Given the description of an element on the screen output the (x, y) to click on. 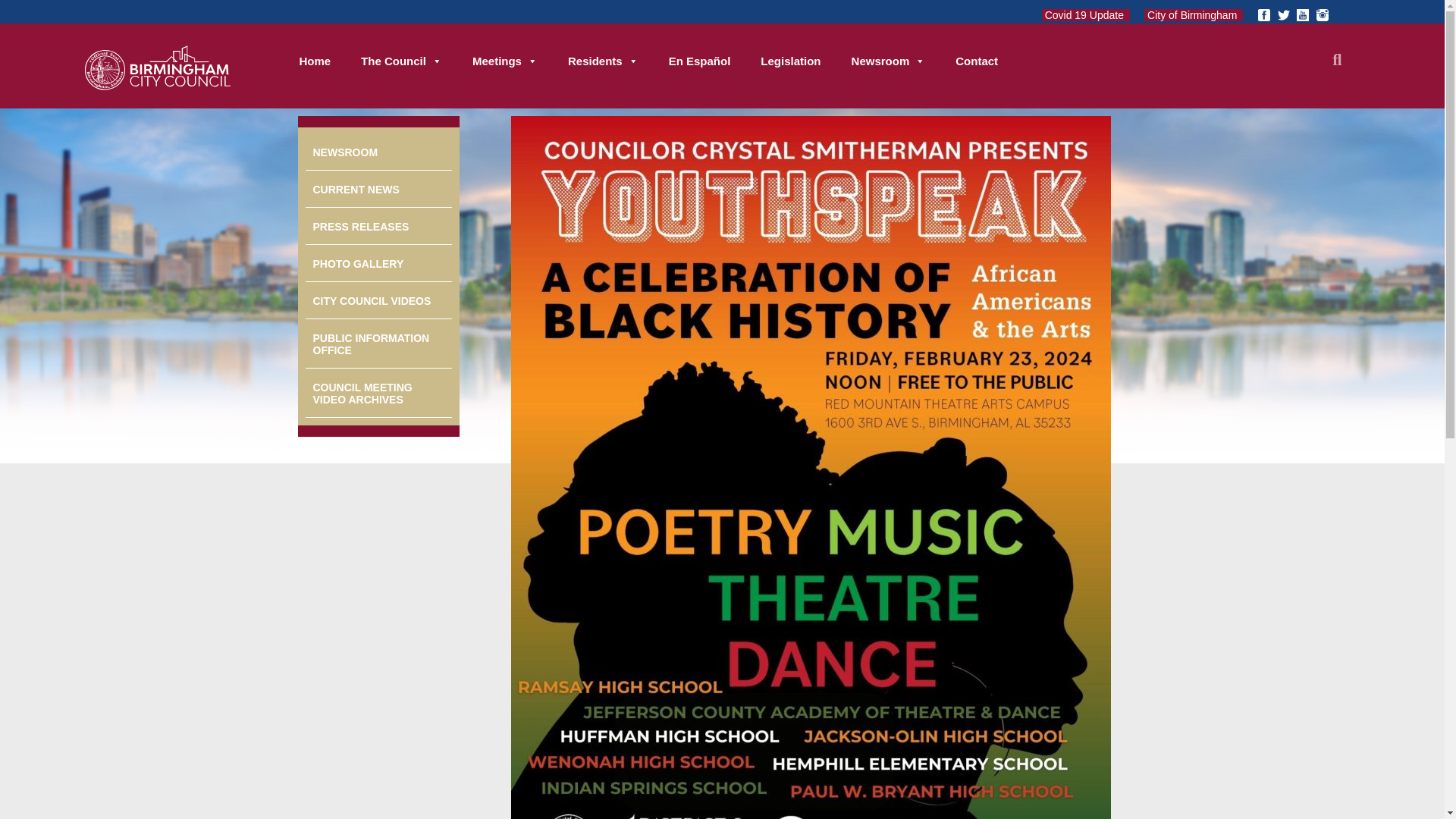
City of Birmingham   (1193, 15)
The Council (401, 61)
 Covid 19 Update   (1085, 15)
Meetings (505, 61)
Home (314, 61)
